Given the description of an element on the screen output the (x, y) to click on. 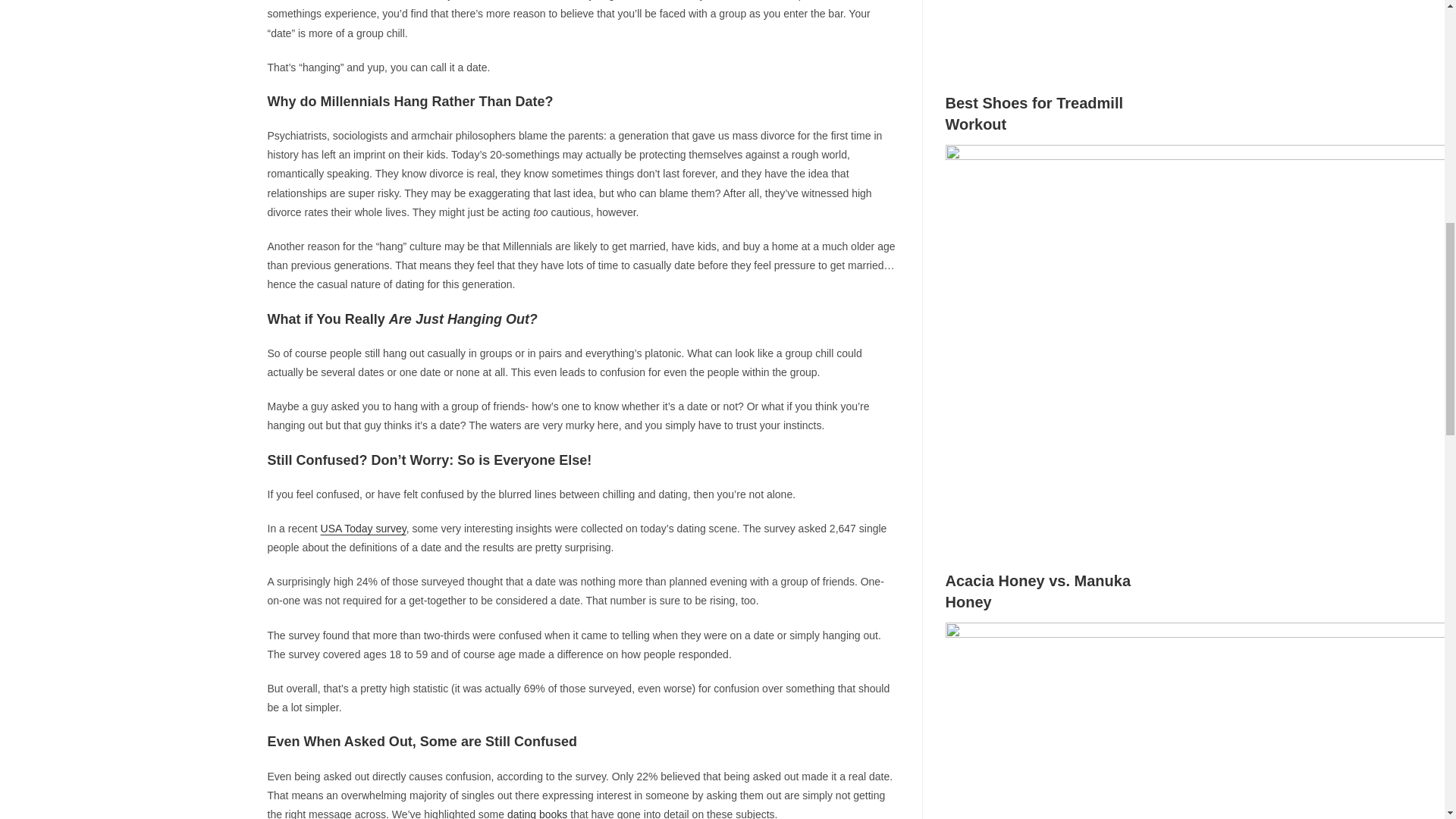
dating books (536, 813)
Best Water Softener Salt for Sensitive Skin (1200, 63)
USA Today survey (363, 528)
Best Shoes for Treadmill Workout (1200, 541)
